Given the description of an element on the screen output the (x, y) to click on. 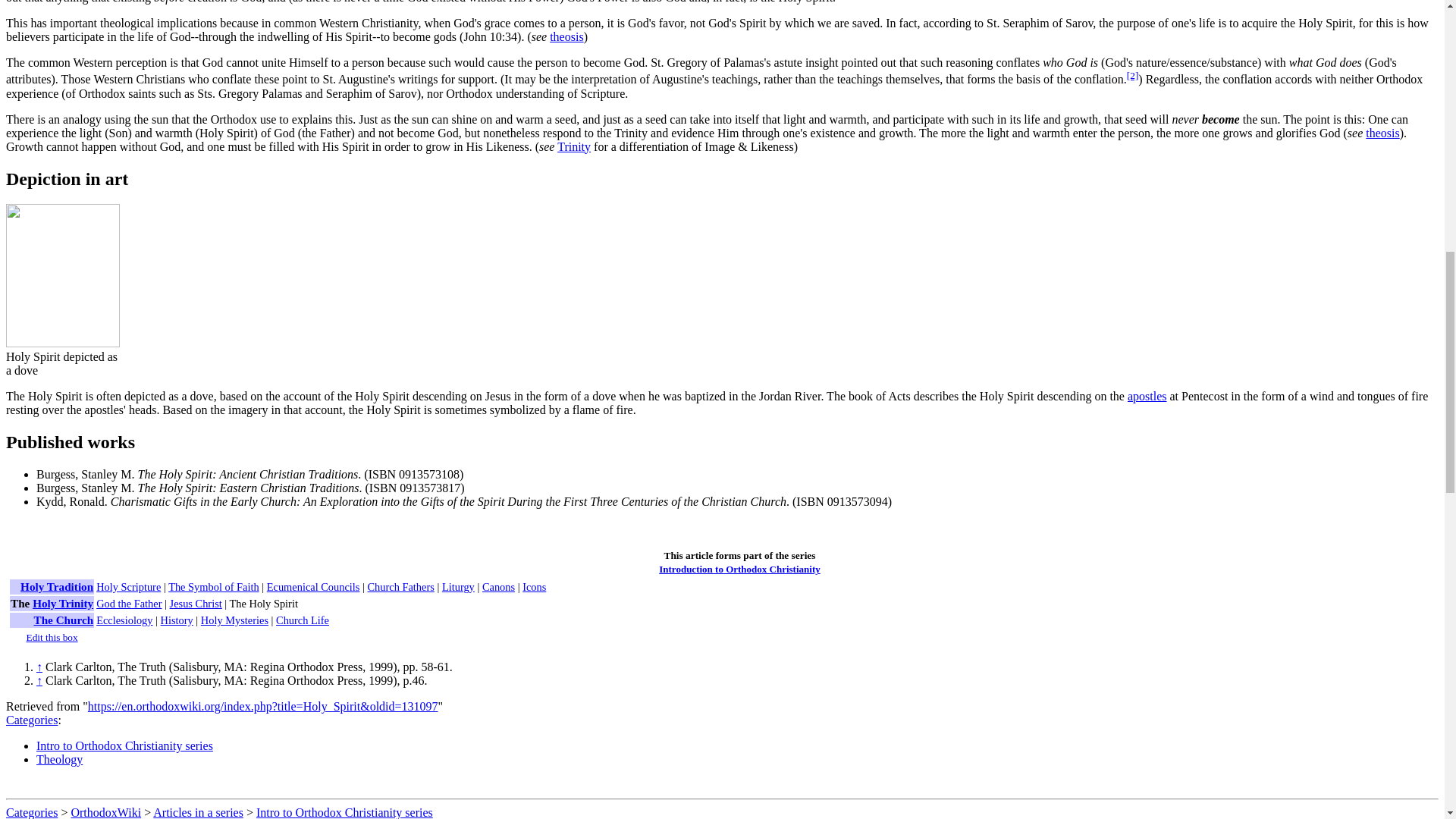
Apostle (1146, 395)
Holy Trinity (62, 603)
Nicene-Constantinopolitan Creed (213, 586)
Holy Scripture (128, 586)
Ecumenical Councils (312, 586)
The Symbol of Faith (213, 586)
God the Father (128, 603)
Holy Tradition (56, 585)
Trinity (574, 146)
Introduction to Orthodox Christianity (739, 568)
Liturgy (458, 586)
Canons (498, 586)
theosis (566, 36)
Trinity (574, 146)
Theosis (566, 36)
